Given the description of an element on the screen output the (x, y) to click on. 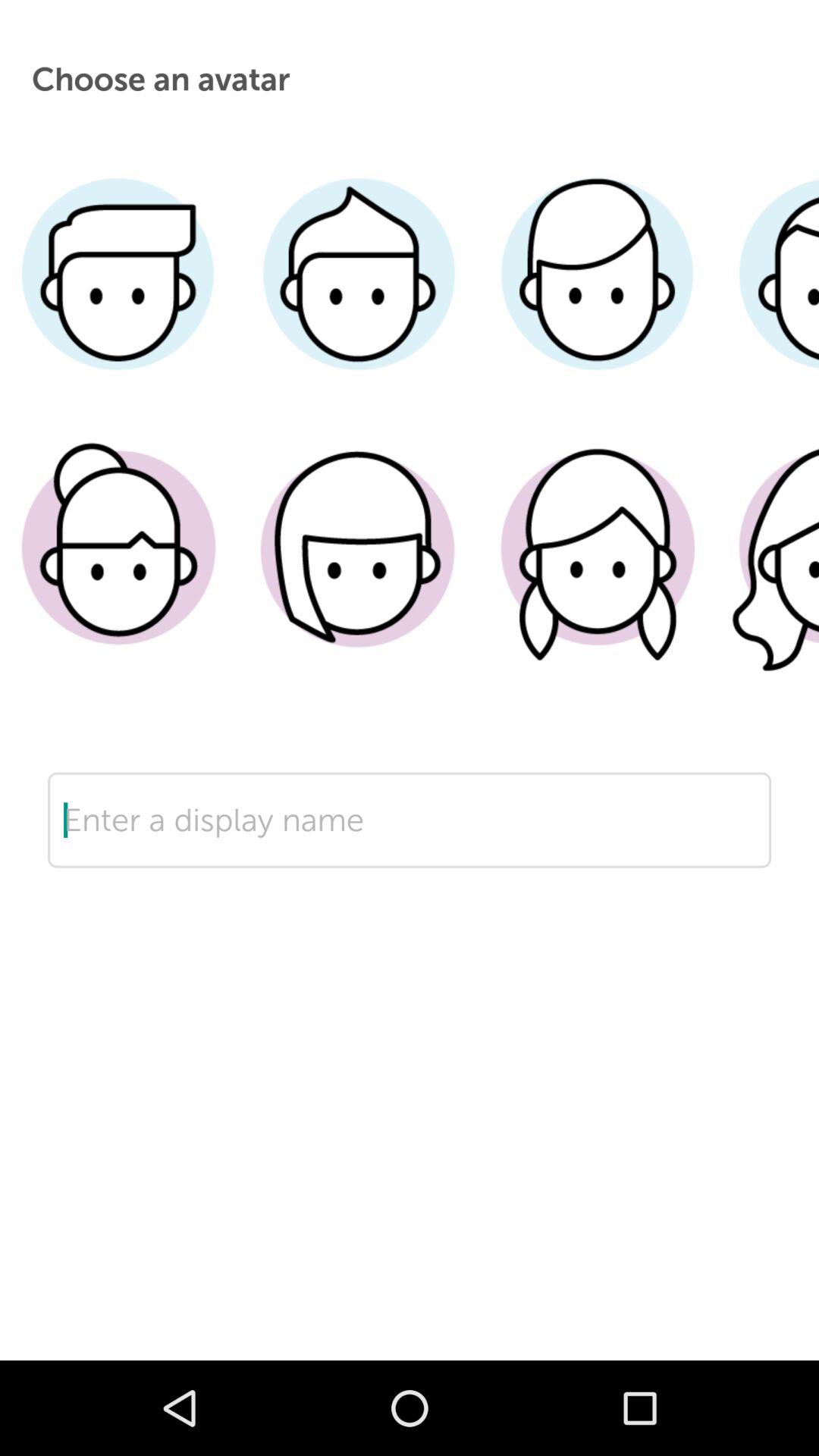
it 's purple arrow pointing to the left (409, 867)
